Given the description of an element on the screen output the (x, y) to click on. 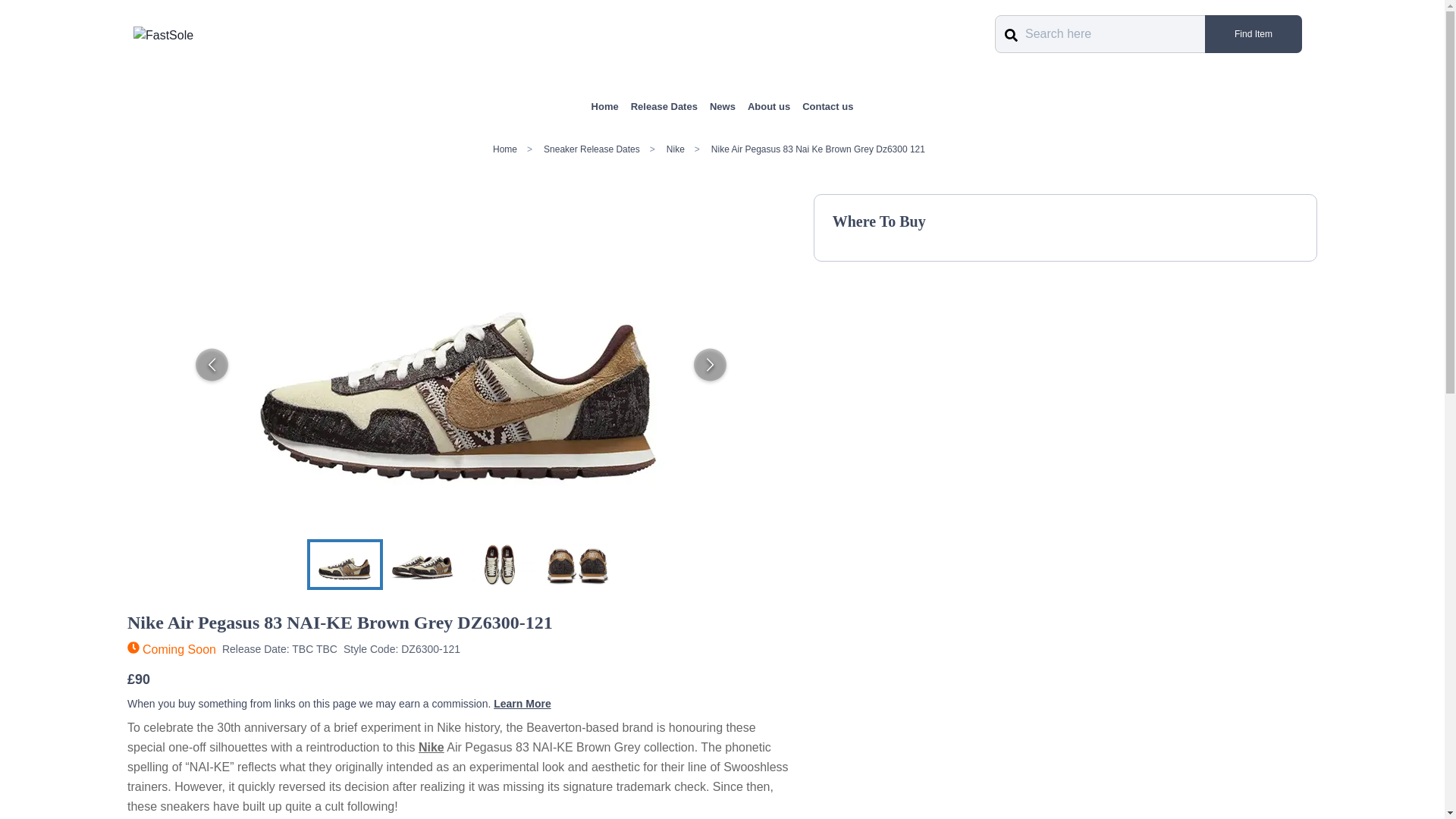
Home (604, 106)
Nike Air Pegasus 83 NAI-KE Brown Grey DZ6300-121 up (499, 563)
FastSole (163, 35)
Nike Air Pegasus 83 NAI-KE Brown Grey DZ6300-121 back (576, 563)
Release Dates (663, 106)
Find Item (1253, 34)
